Given the description of an element on the screen output the (x, y) to click on. 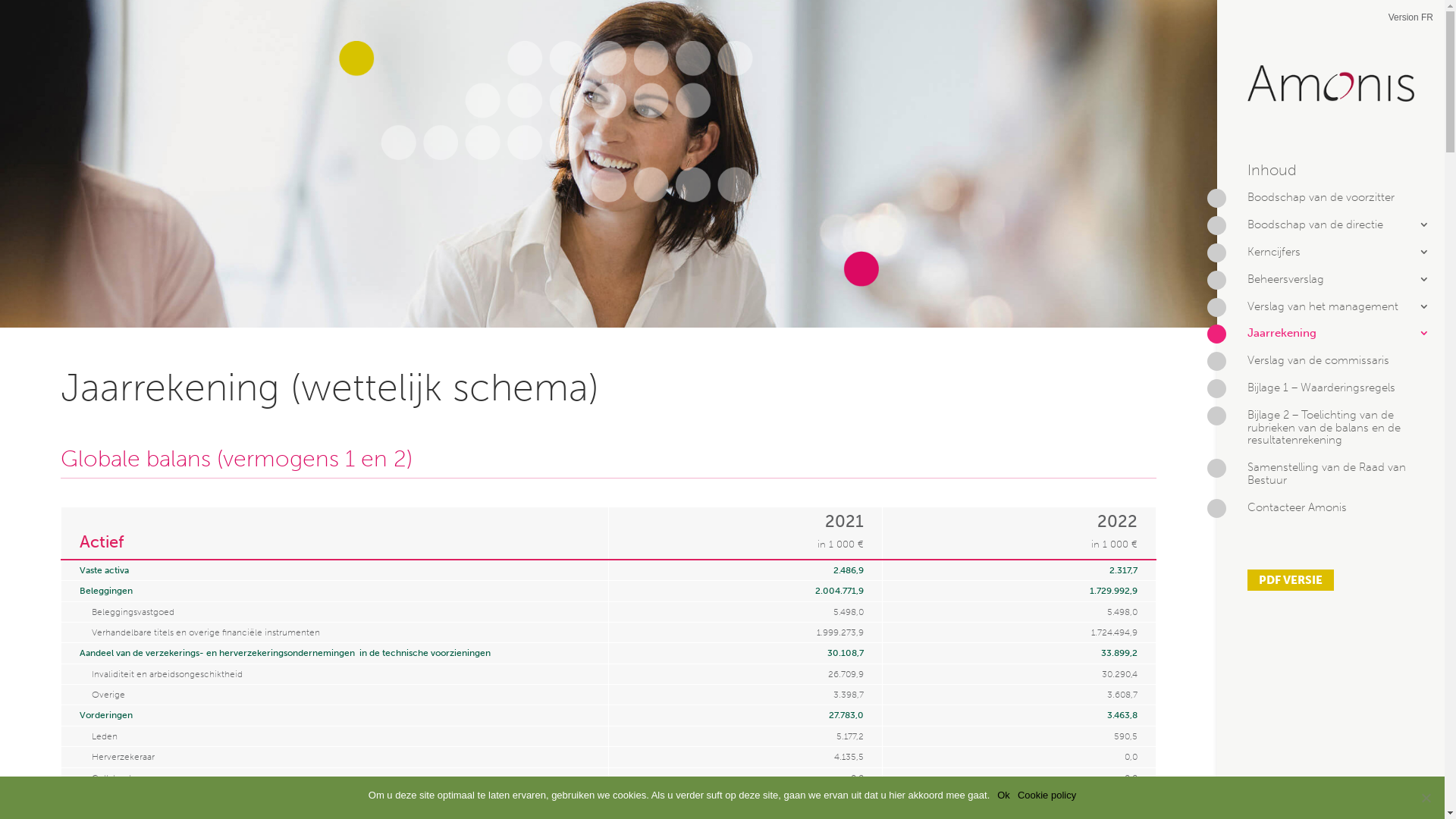
Cookie policy Element type: text (1046, 795)
PDF VERSIE Element type: text (1290, 579)
Samenstelling van de Raad van Bestuur Element type: text (1330, 481)
Kerncijfers Element type: text (1330, 259)
Boodschap van de directie Element type: text (1330, 231)
Verslag van het management Element type: text (1330, 313)
No Element type: hover (1425, 797)
Contacteer Amonis Element type: text (1330, 514)
Jaarrekening Element type: text (1330, 340)
Beheersverslag Element type: text (1330, 286)
Ok Element type: text (1003, 795)
Version FR Element type: text (1410, 17)
Verslag van de commissaris Element type: text (1330, 367)
Inhoud Element type: text (1330, 177)
Boodschap van de voorzitter Element type: text (1330, 204)
